Given the description of an element on the screen output the (x, y) to click on. 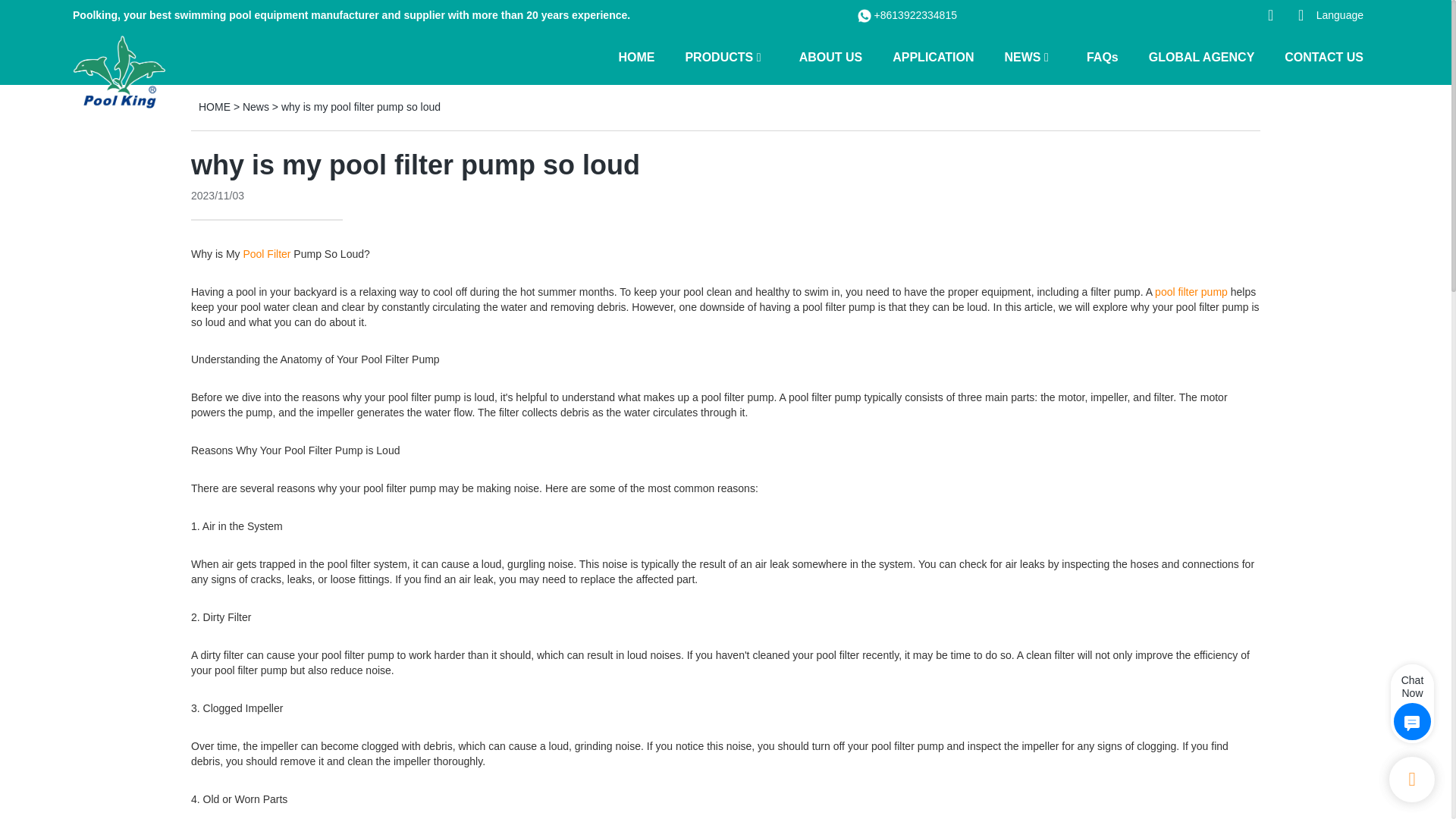
HOME (635, 56)
PRODUCTS (718, 56)
pool filter pump (1190, 291)
Pool Filter (266, 254)
